Given the description of an element on the screen output the (x, y) to click on. 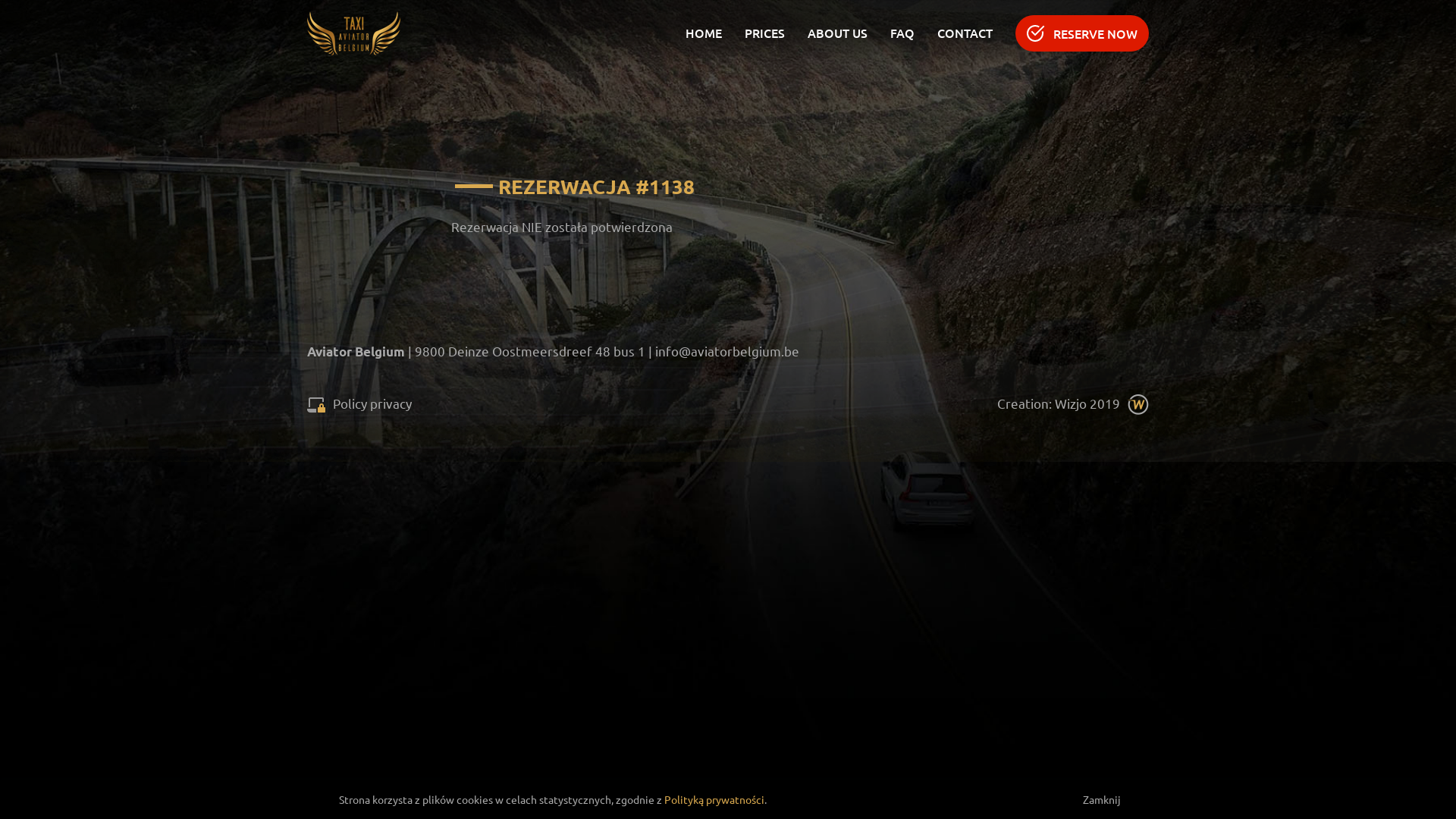
Policy privacy Element type: text (359, 403)
HOME Element type: text (703, 32)
CONTACT Element type: text (964, 32)
info@aviatorbelgium.be Element type: text (727, 350)
Zamknij Element type: text (1078, 798)
Creation: Wizjo 2019 Element type: text (1072, 403)
FAQ Element type: text (902, 32)
ABOUT US Element type: text (837, 32)
RESERVE NOW Element type: text (1081, 33)
PRICES Element type: text (764, 32)
